Given the description of an element on the screen output the (x, y) to click on. 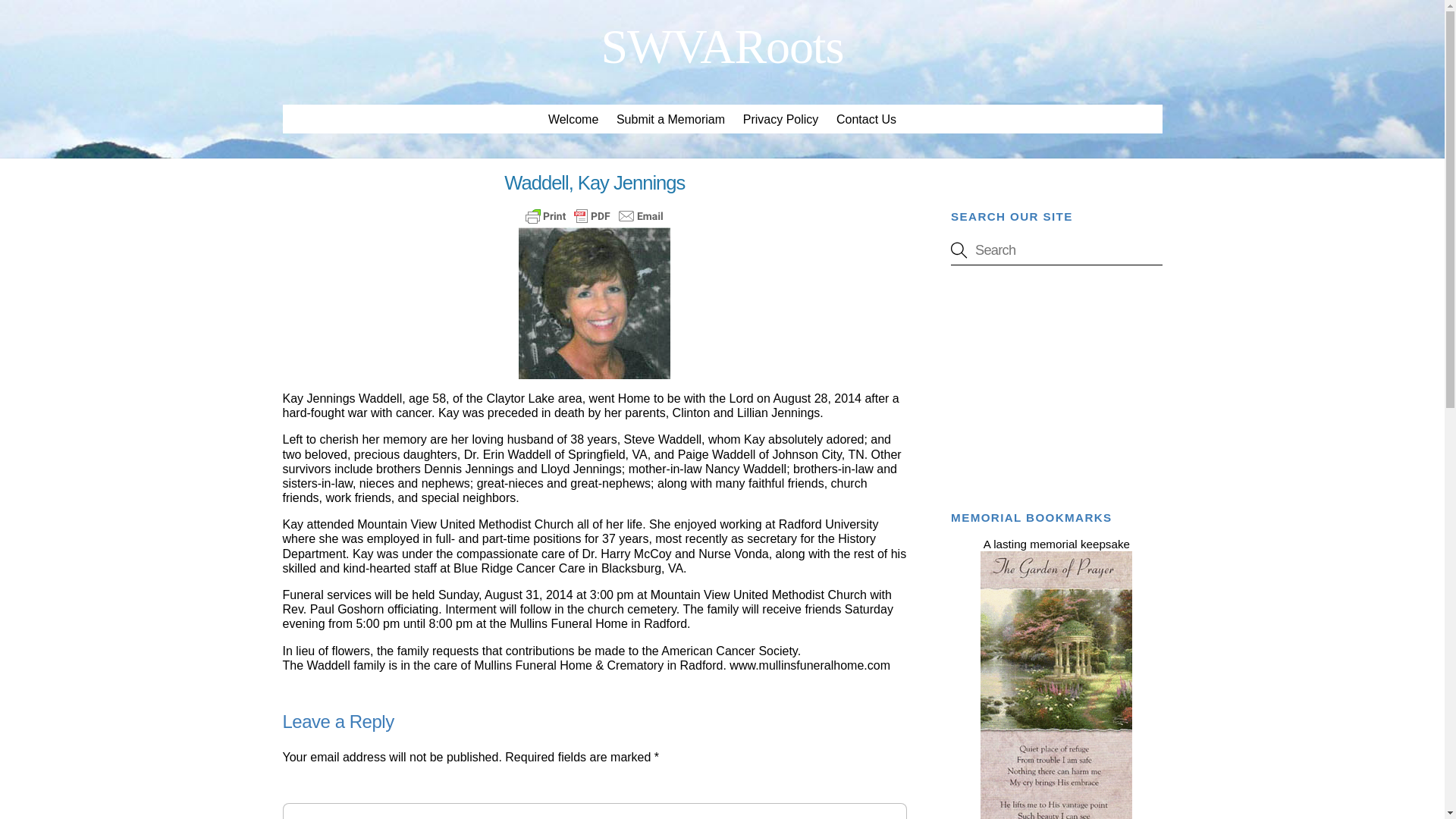
Submit a Memoriam (670, 118)
SWVARoots (722, 46)
Welcome (572, 118)
SWVARoots (721, 106)
Search (722, 46)
Contact Us (1055, 249)
Privacy Policy (865, 118)
